Given the description of an element on the screen output the (x, y) to click on. 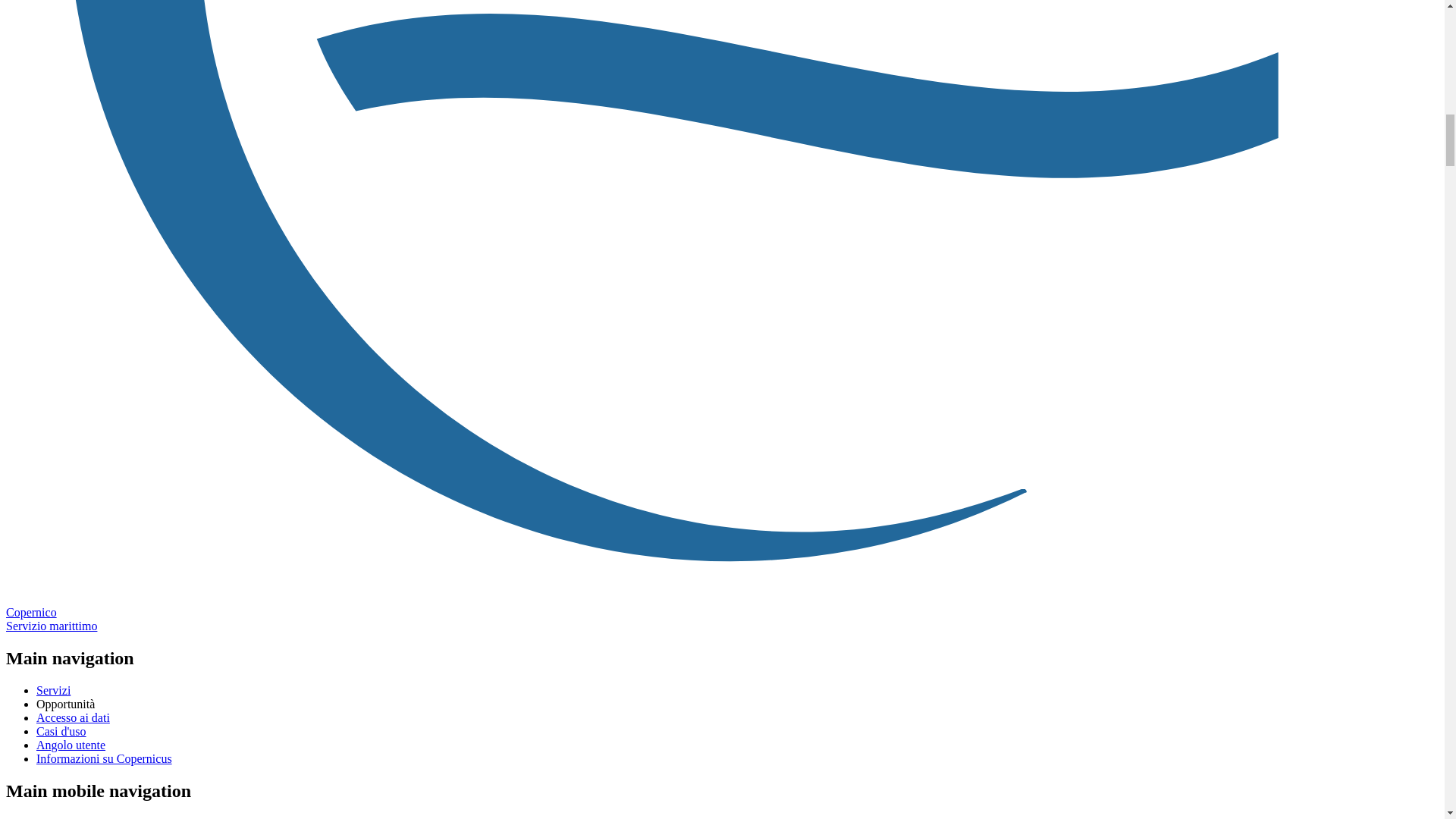
Accesso ai dati (73, 717)
Informazioni su Copernicus (103, 758)
Angolo utente (70, 744)
Casi d'uso (60, 730)
Servizi (52, 689)
